Given the description of an element on the screen output the (x, y) to click on. 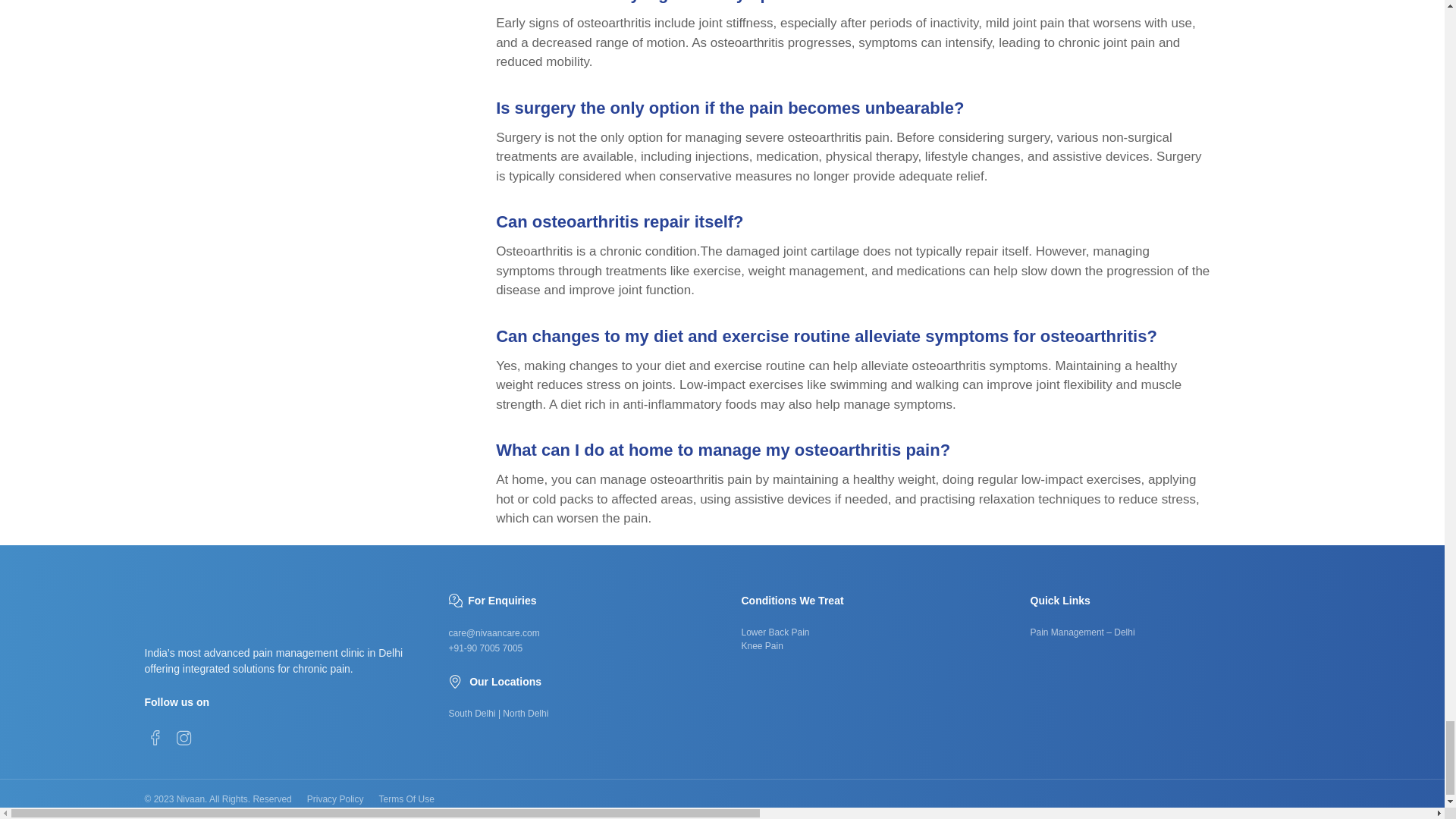
   Our Locations (585, 681)
Follow us on (288, 701)
Knee Pain (762, 645)
South Delhi (472, 713)
  For Enquiries (868, 638)
Conditions We Treat (585, 600)
Lower Back Pain (362, 798)
North Delhi (868, 600)
Quick Links (775, 632)
